Given the description of an element on the screen output the (x, y) to click on. 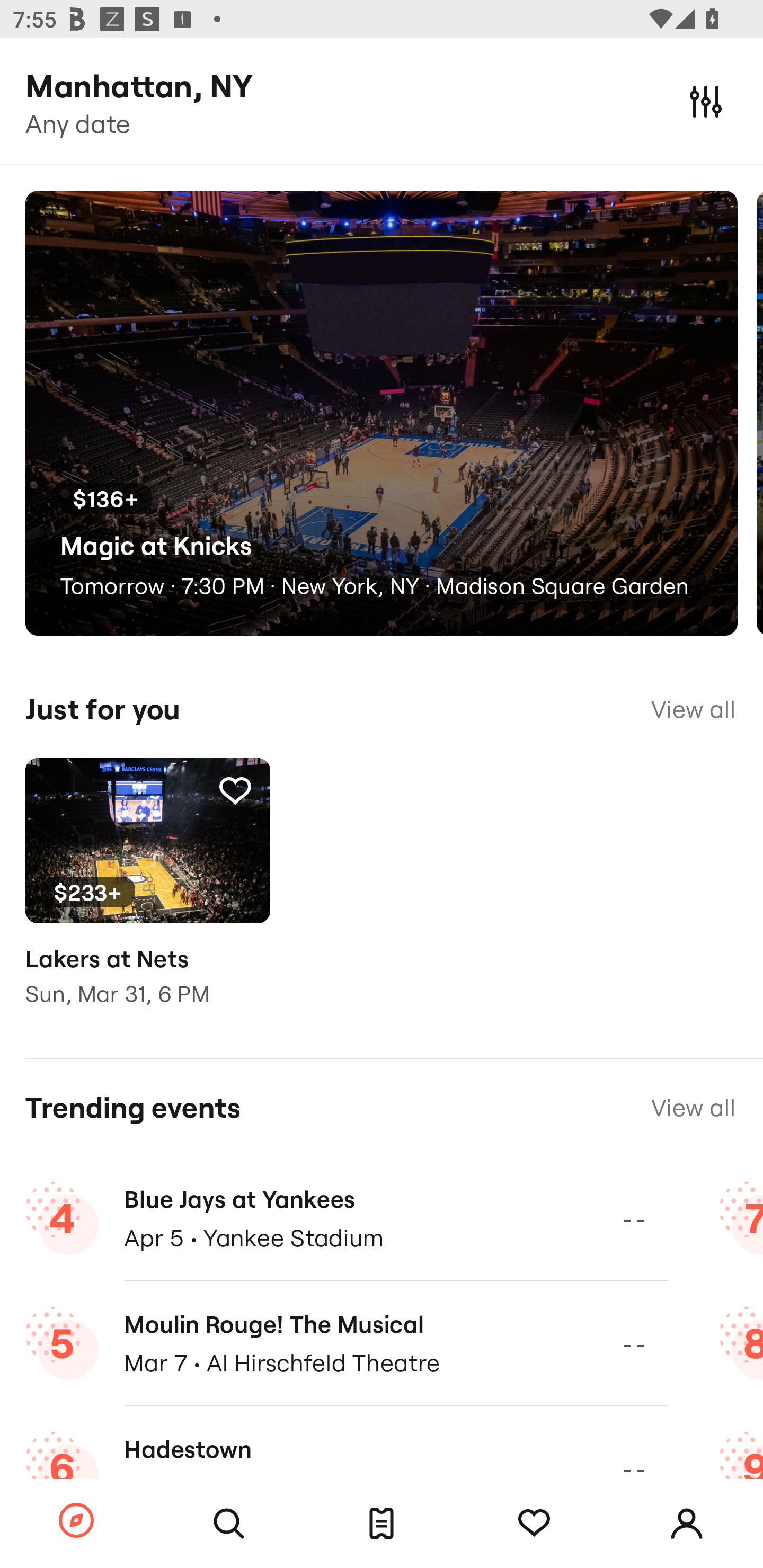
Filters (705, 100)
View all (693, 709)
Tracking $233+ Lakers at Nets Sun, Mar 31, 6 PM (147, 895)
Tracking (234, 790)
View all (693, 1108)
Browse (76, 1521)
Search (228, 1523)
Tickets (381, 1523)
Tracking (533, 1523)
Account (686, 1523)
